Given the description of an element on the screen output the (x, y) to click on. 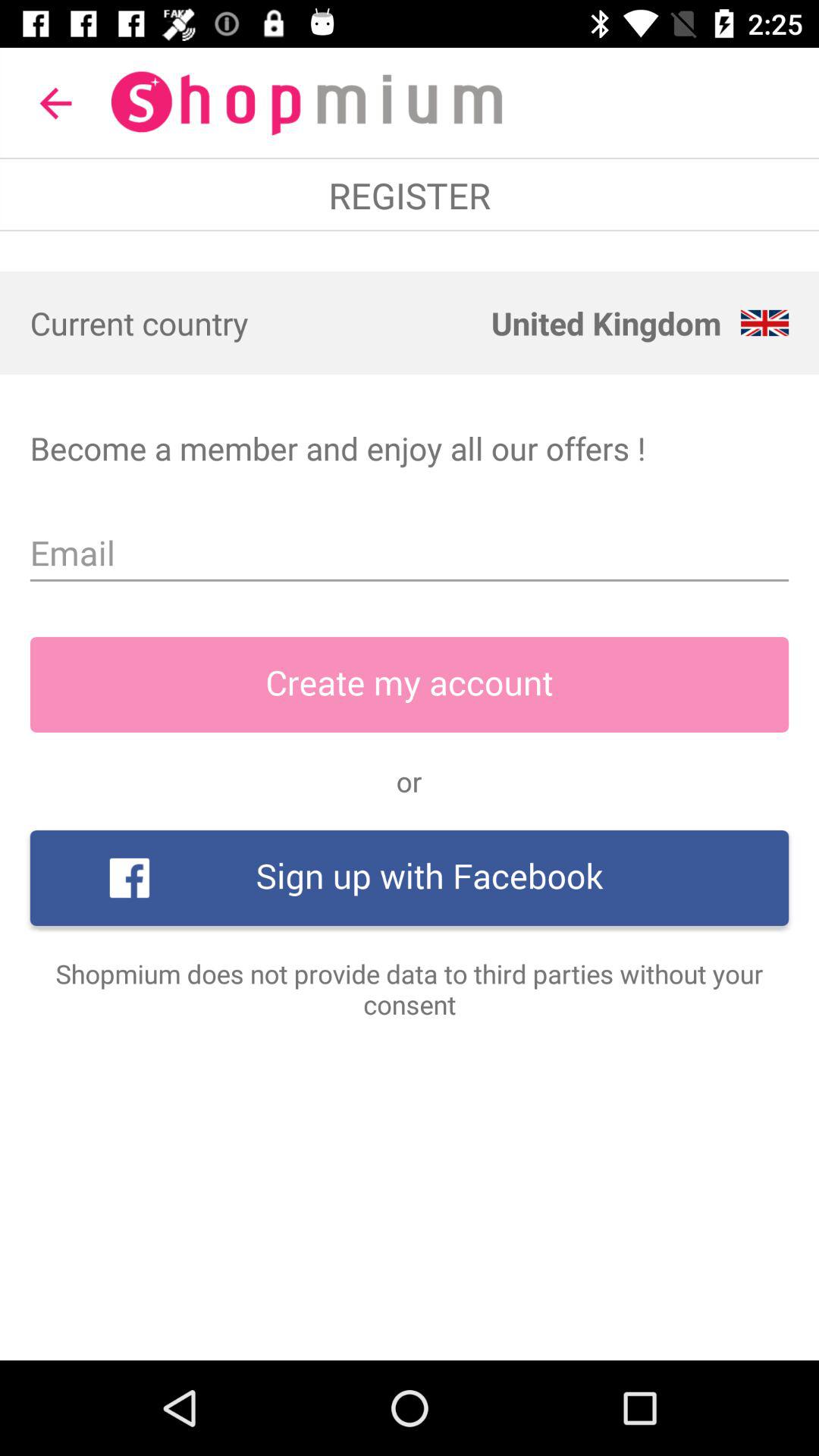
open item above shopmium does not item (409, 877)
